Given the description of an element on the screen output the (x, y) to click on. 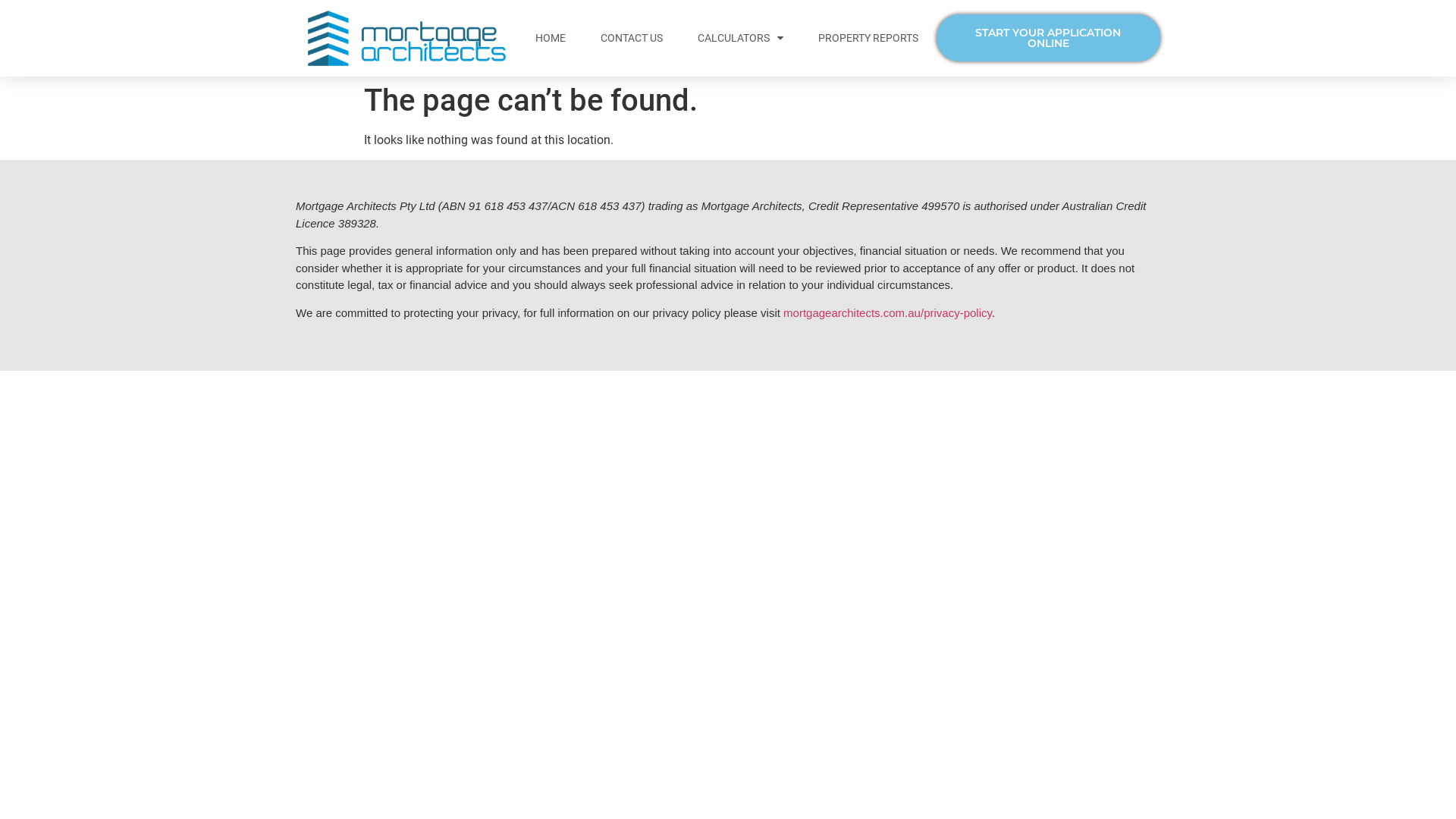
HOME Element type: text (550, 37)
PROPERTY REPORTS Element type: text (868, 37)
mortgagearchitects.com.au/privacy-policy Element type: text (887, 312)
START YOUR APPLICATION ONLINE Element type: text (1048, 37)
CALCULATORS Element type: text (740, 37)
CONTACT US Element type: text (631, 37)
